Given the description of an element on the screen output the (x, y) to click on. 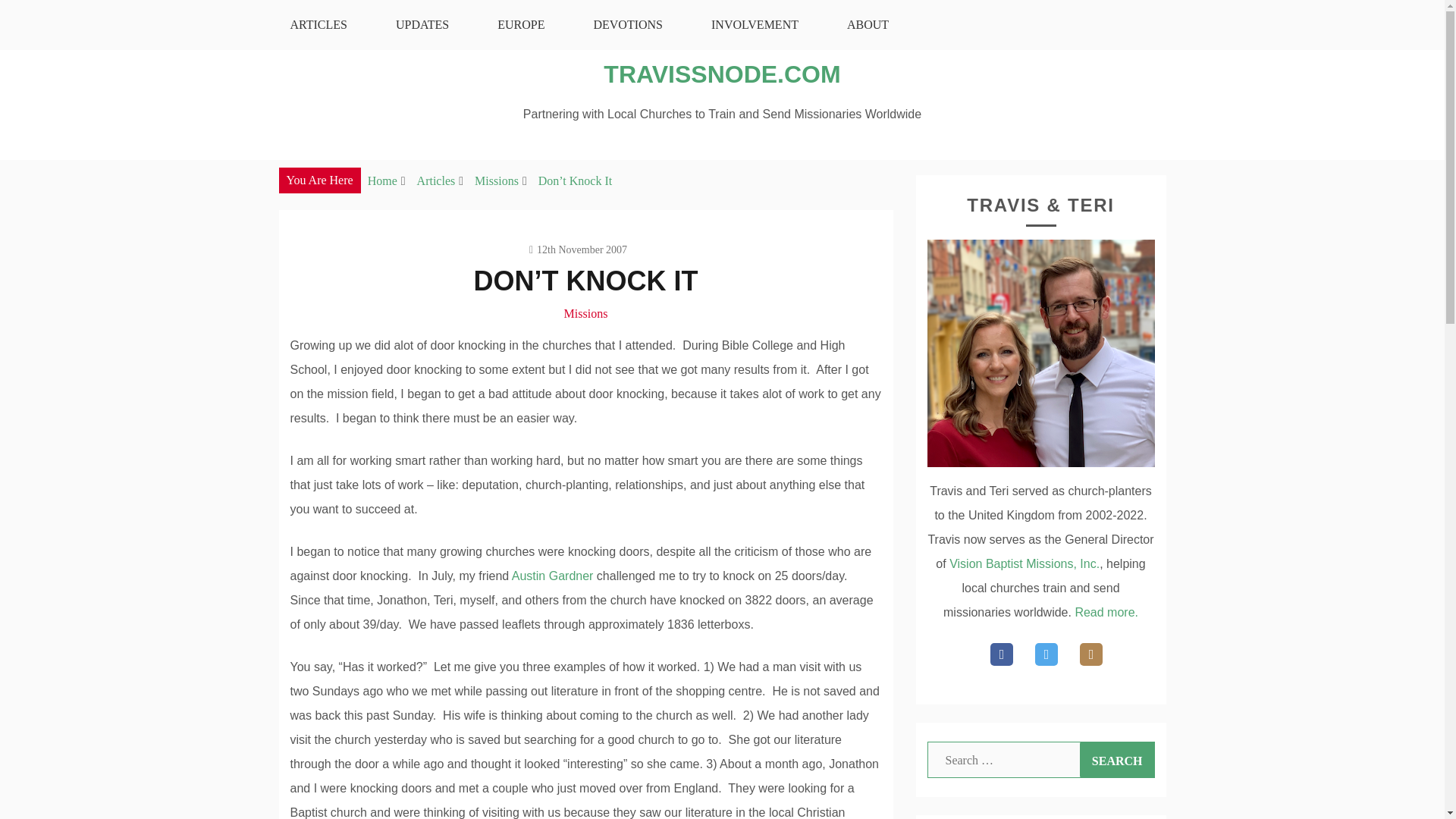
linkedin (1091, 653)
Vision Baptist Missions, Inc. (1024, 563)
ABOUT (867, 24)
Austin Gardner (553, 575)
Read more. (1106, 612)
Articles (435, 180)
facebook (1001, 653)
Search (1117, 760)
Missions (496, 180)
Search (1117, 760)
